Given the description of an element on the screen output the (x, y) to click on. 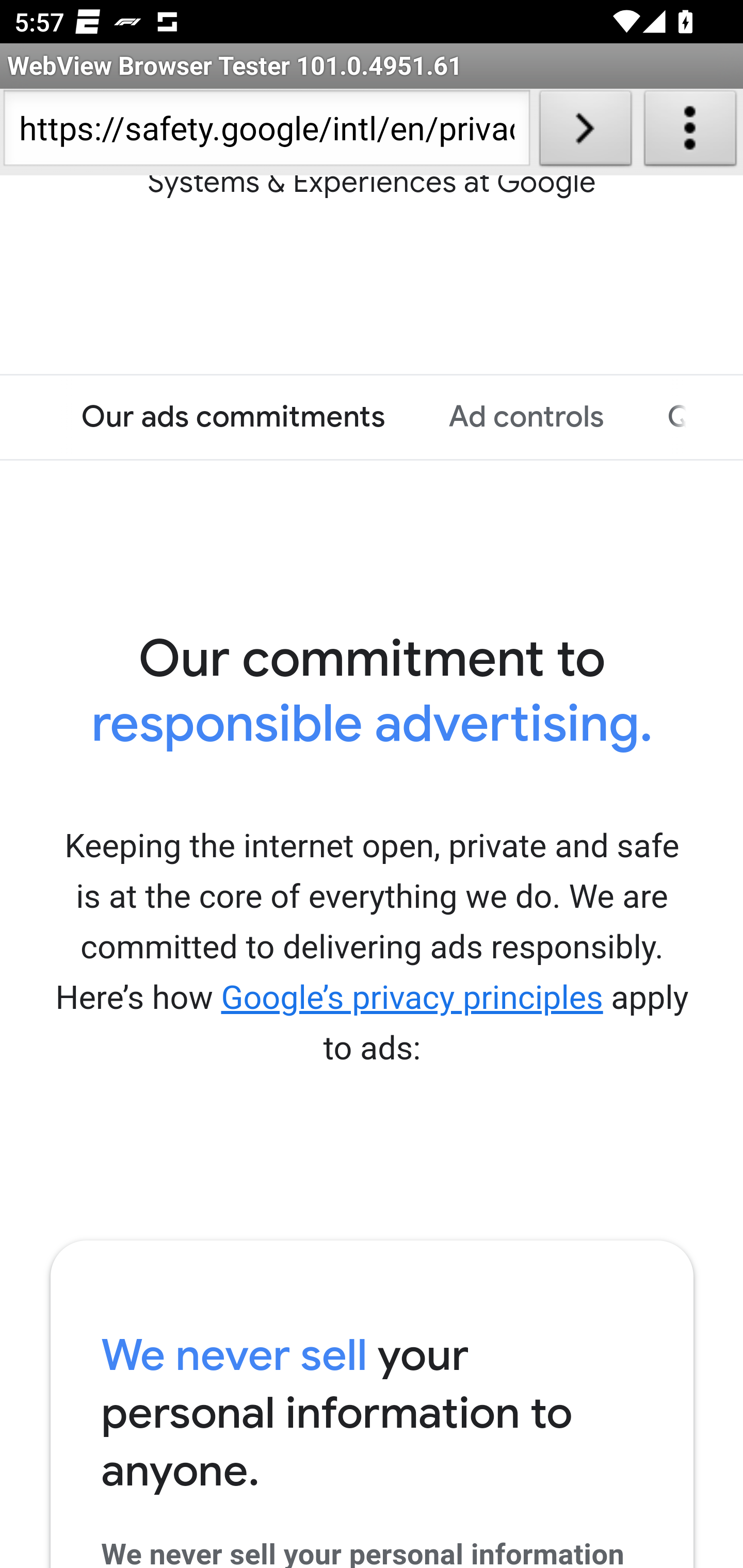
Load URL (585, 132)
About WebView (690, 132)
Our ads commitments (233, 417)
Ad controls (525, 417)
Google’s privacy principles (411, 997)
